Given the description of an element on the screen output the (x, y) to click on. 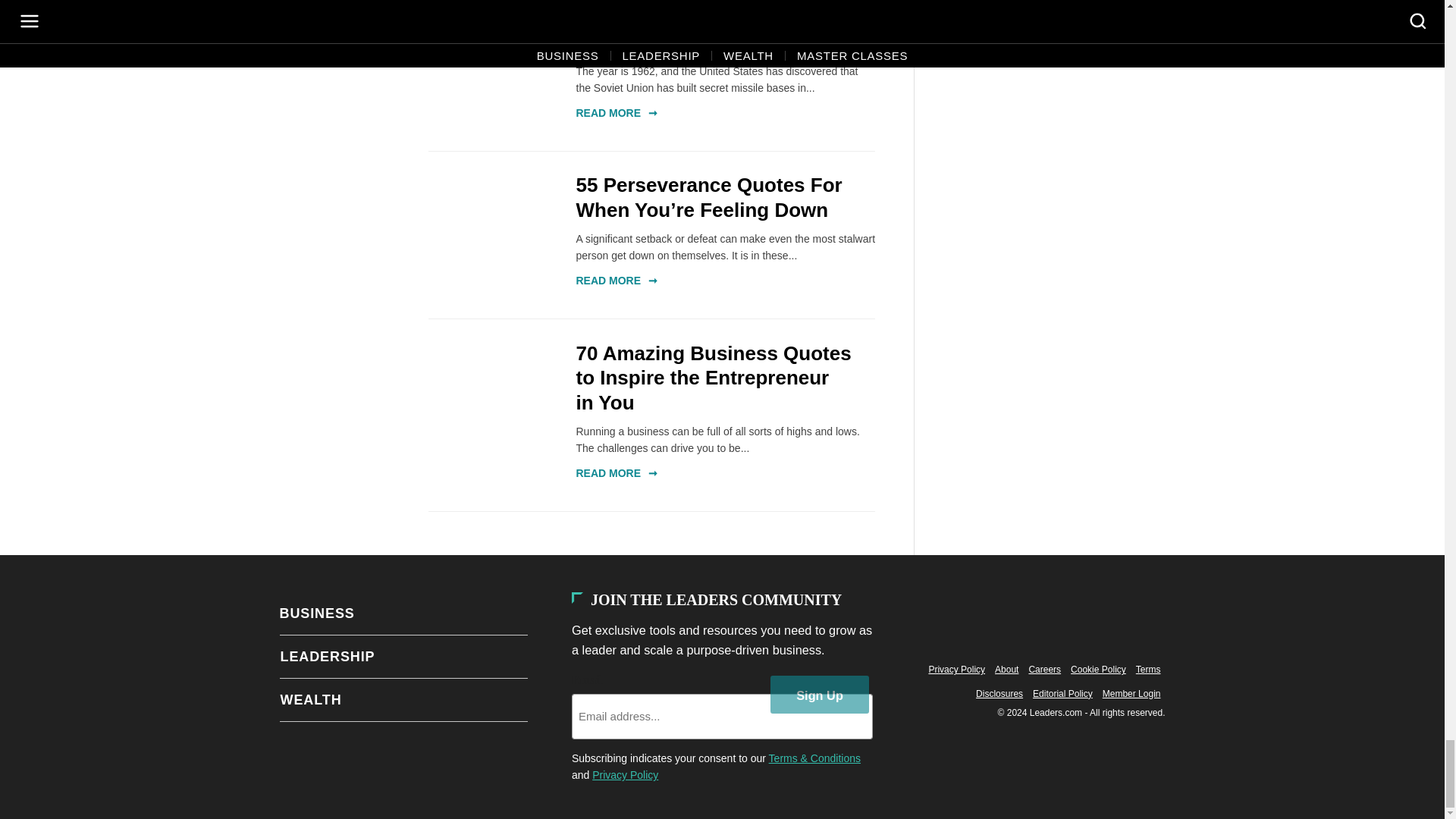
Sign Up (819, 694)
